Given the description of an element on the screen output the (x, y) to click on. 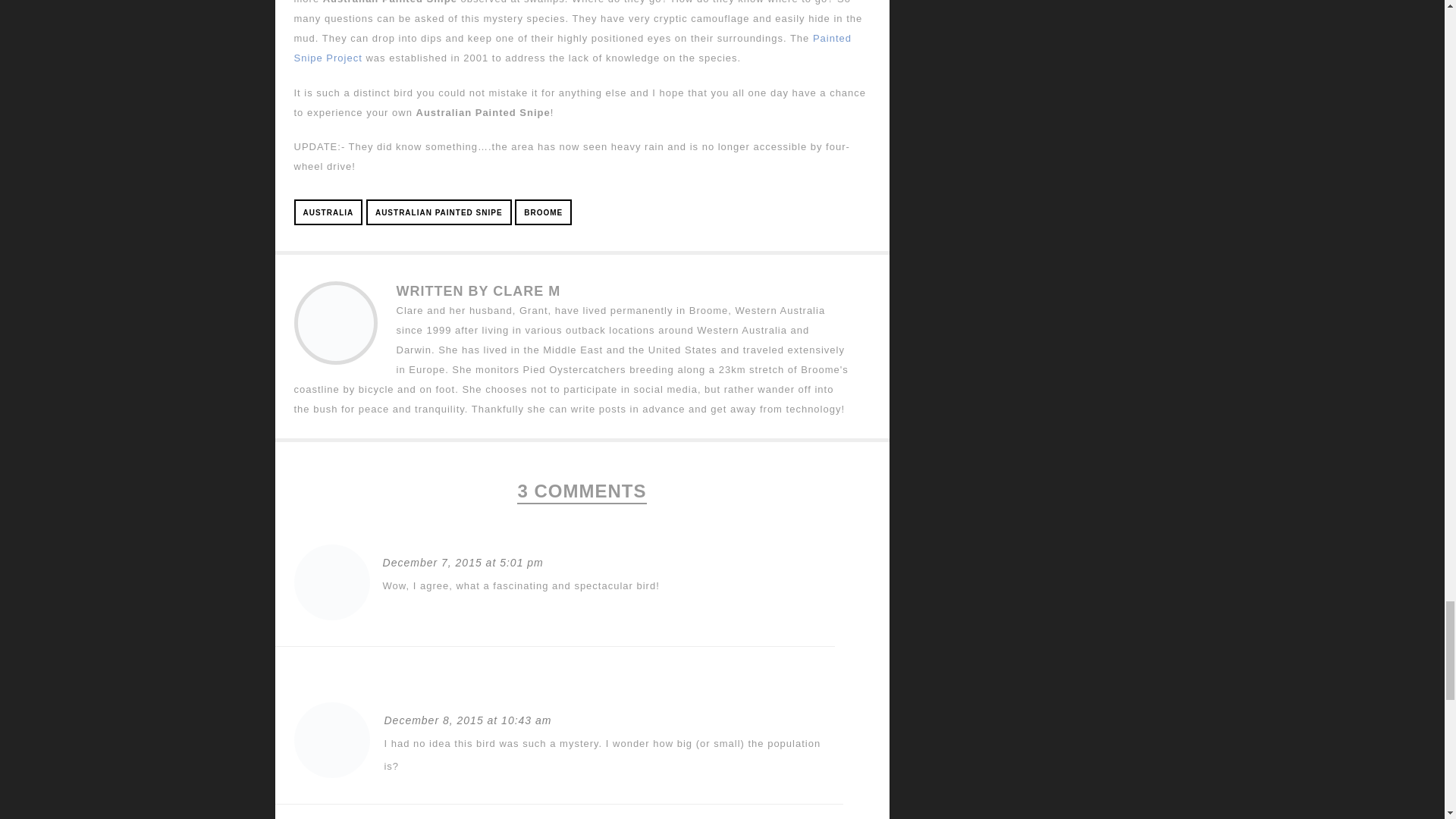
AUSTRALIAN PAINTED SNIPE (439, 211)
Painted Snipe Project (572, 47)
AUSTRALIA (328, 211)
